Given the description of an element on the screen output the (x, y) to click on. 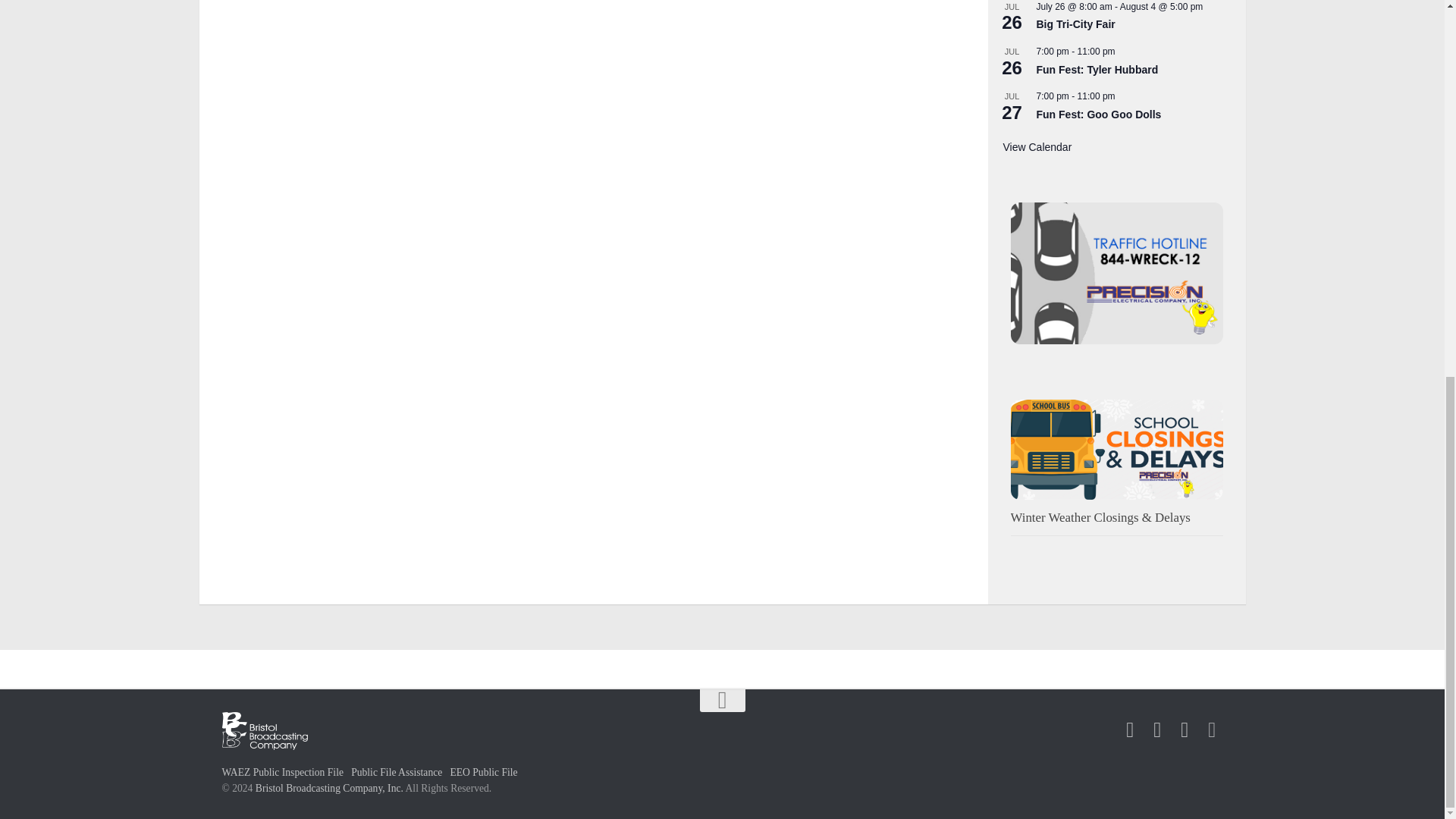
Fun Fest: Tyler Hubbard (1096, 69)
Fun Fest: Goo Goo Dolls (1097, 114)
Big Tri-City Fair (1075, 24)
